Given the description of an element on the screen output the (x, y) to click on. 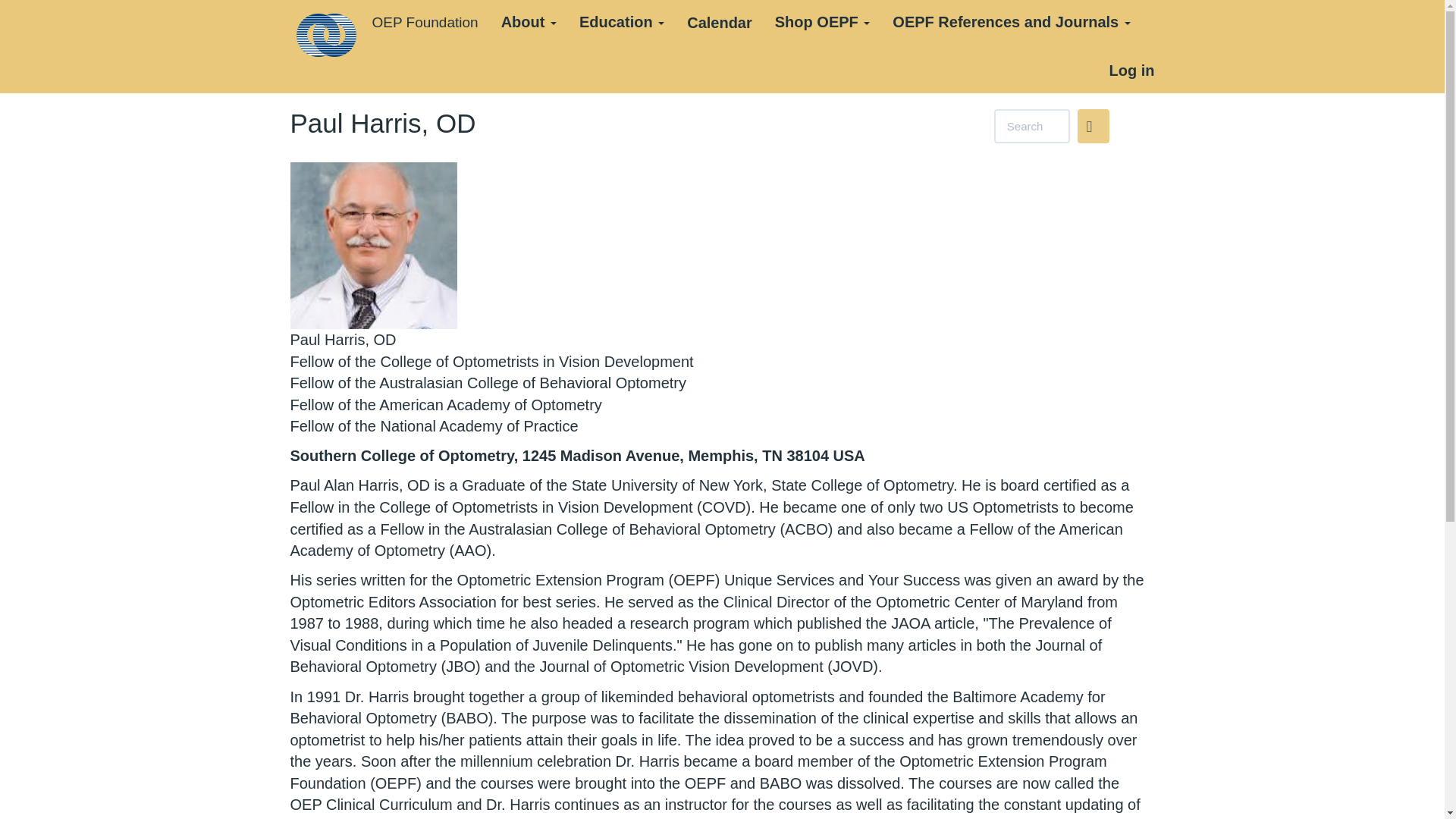
Shop OEPF Product Categories (822, 22)
Home (425, 22)
OEP Foundation (425, 22)
Log in (1131, 70)
Search (1093, 125)
Home (330, 34)
Calendar (718, 22)
OEP Journals and References (1010, 22)
